Given the description of an element on the screen output the (x, y) to click on. 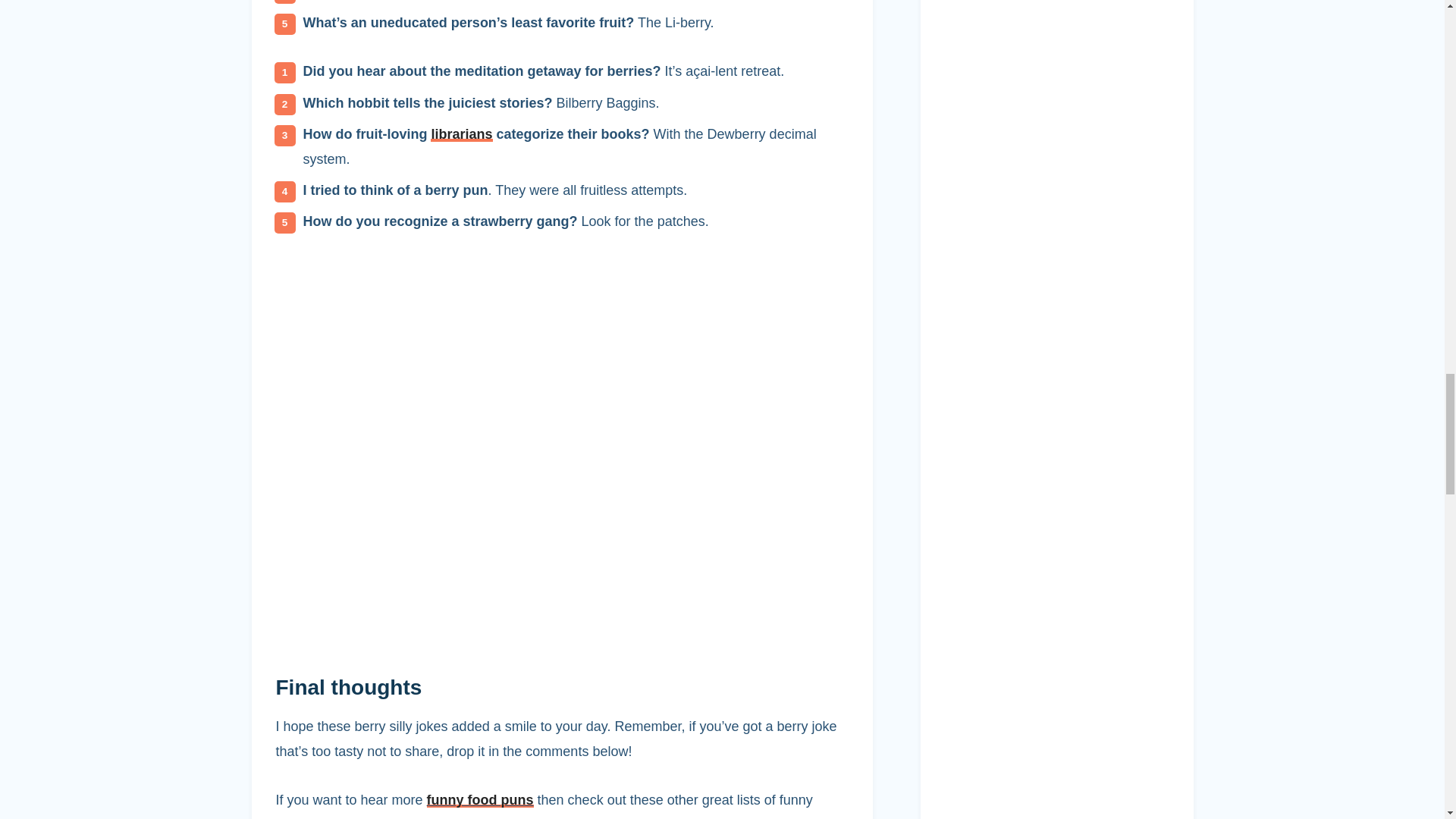
librarians (461, 133)
librarians (461, 133)
funny food puns (480, 799)
